Given the description of an element on the screen output the (x, y) to click on. 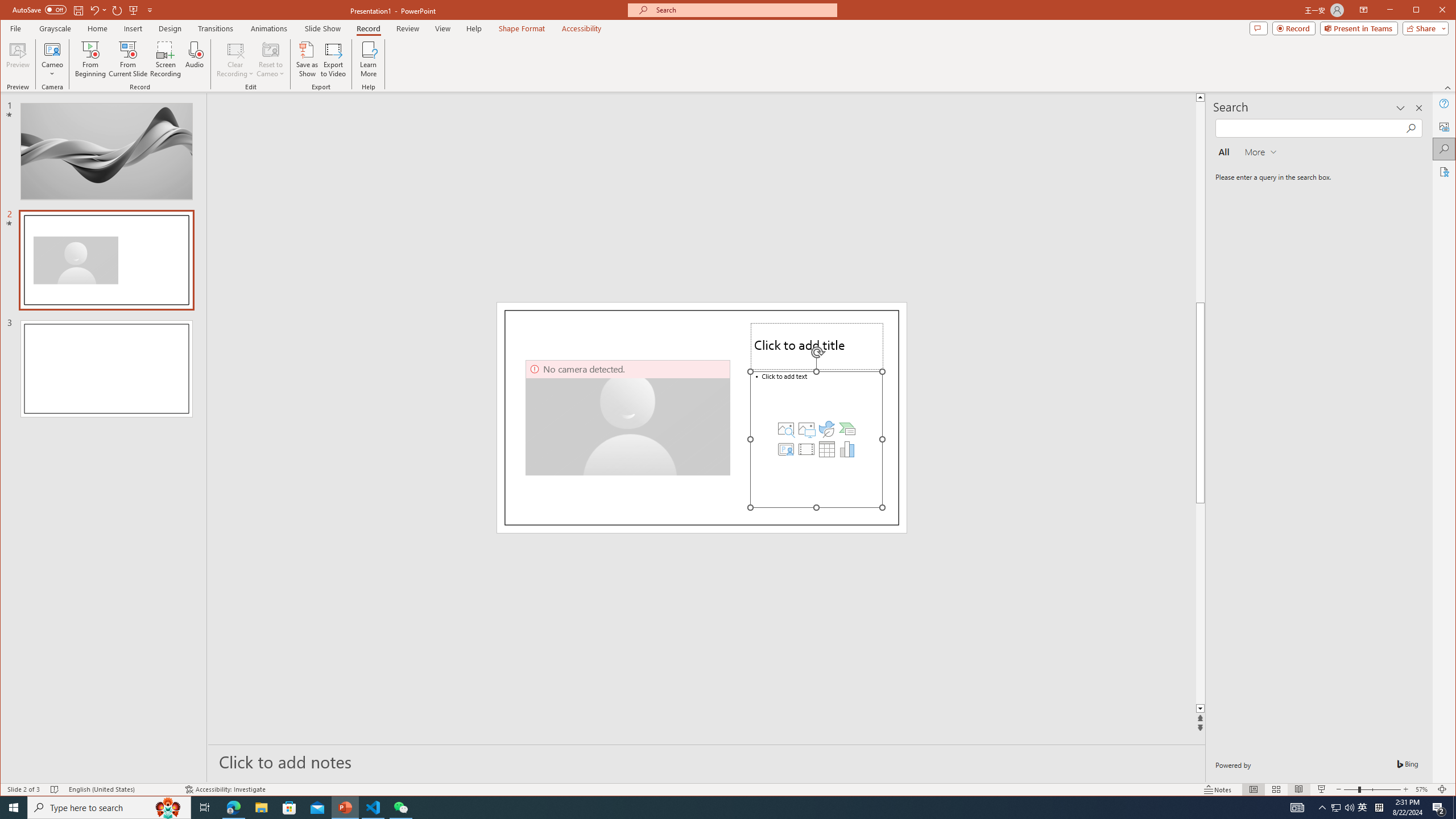
Insert Cameo (785, 449)
Cameo (52, 48)
User Promoted Notification Area (1342, 807)
Visual Studio Code - 1 running window (373, 807)
Microsoft Store (289, 807)
Microsoft Edge - 1 running window (233, 807)
